Given the description of an element on the screen output the (x, y) to click on. 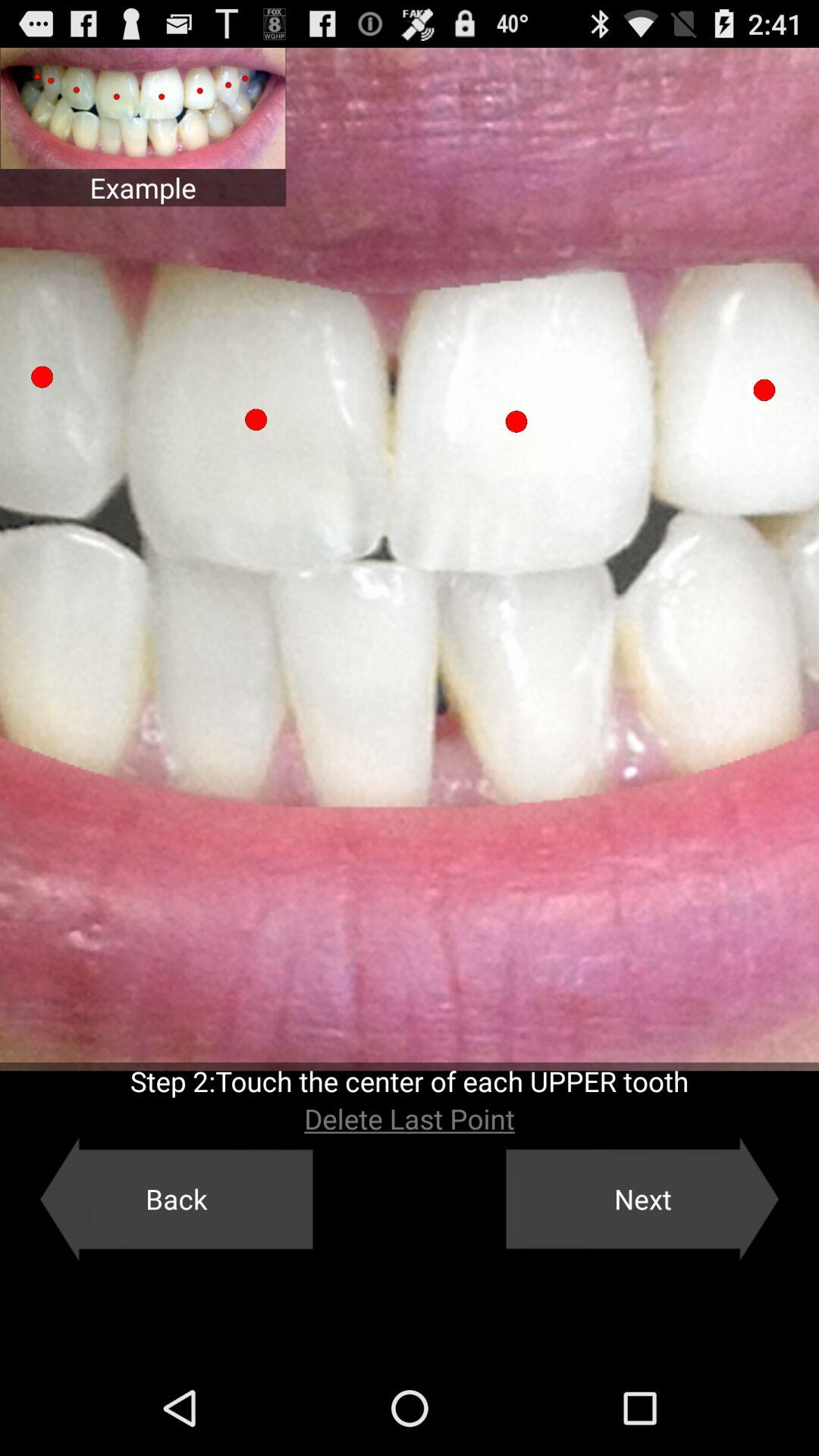
flip to next button (642, 1198)
